Given the description of an element on the screen output the (x, y) to click on. 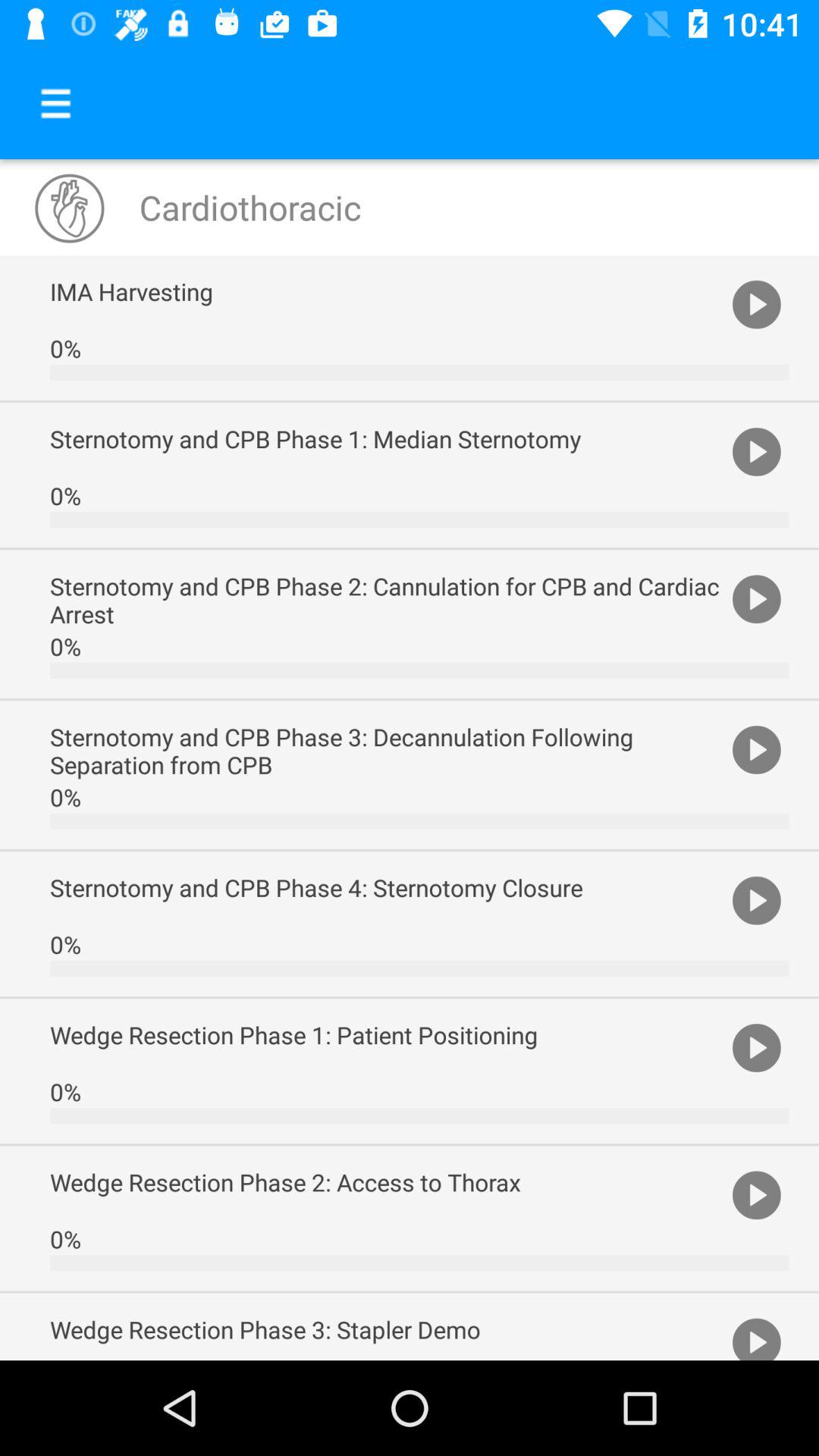
turn off the item next to the sternotomy and cpb item (756, 748)
